Given the description of an element on the screen output the (x, y) to click on. 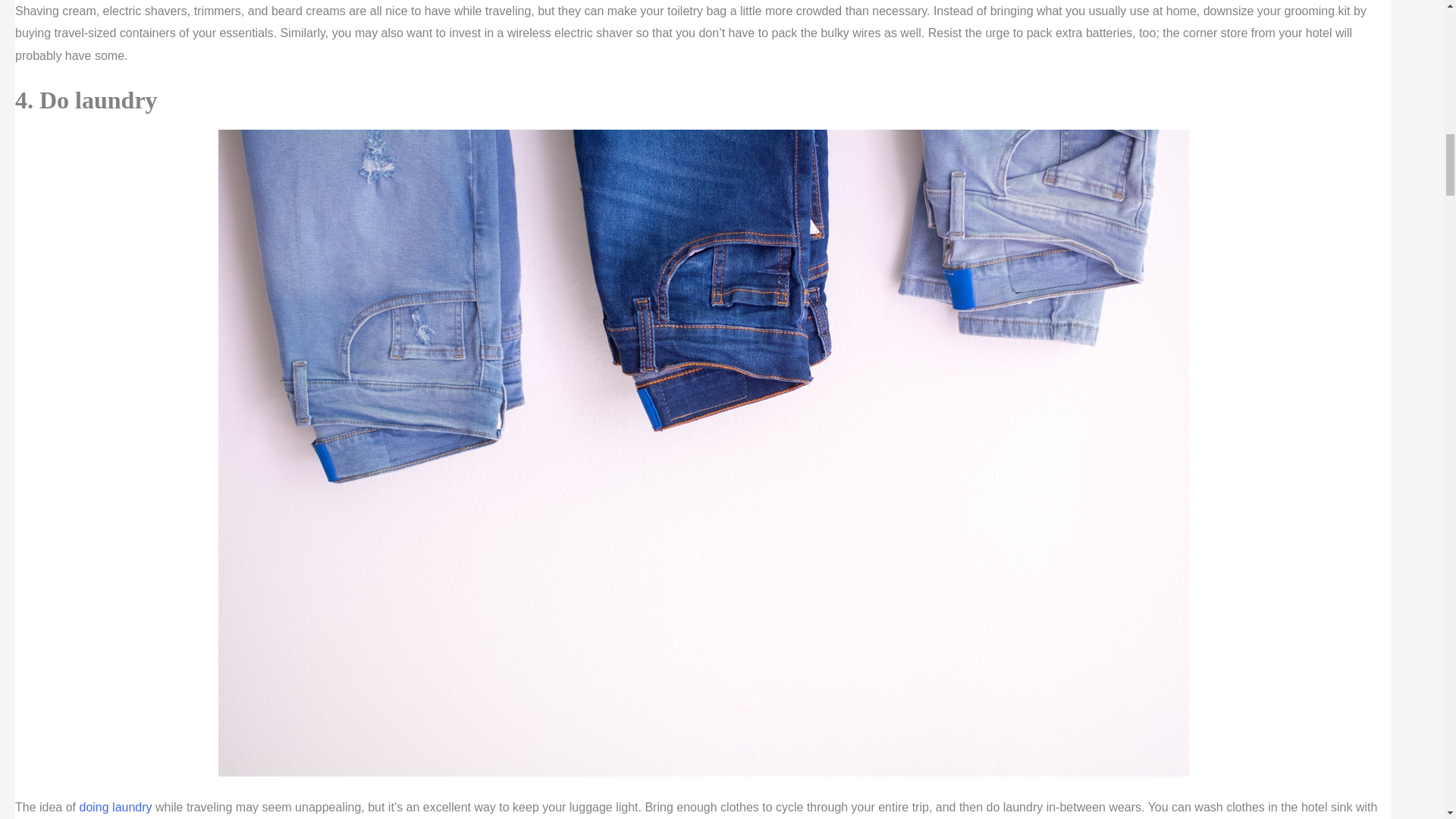
doing laundry (114, 807)
